Given the description of an element on the screen output the (x, y) to click on. 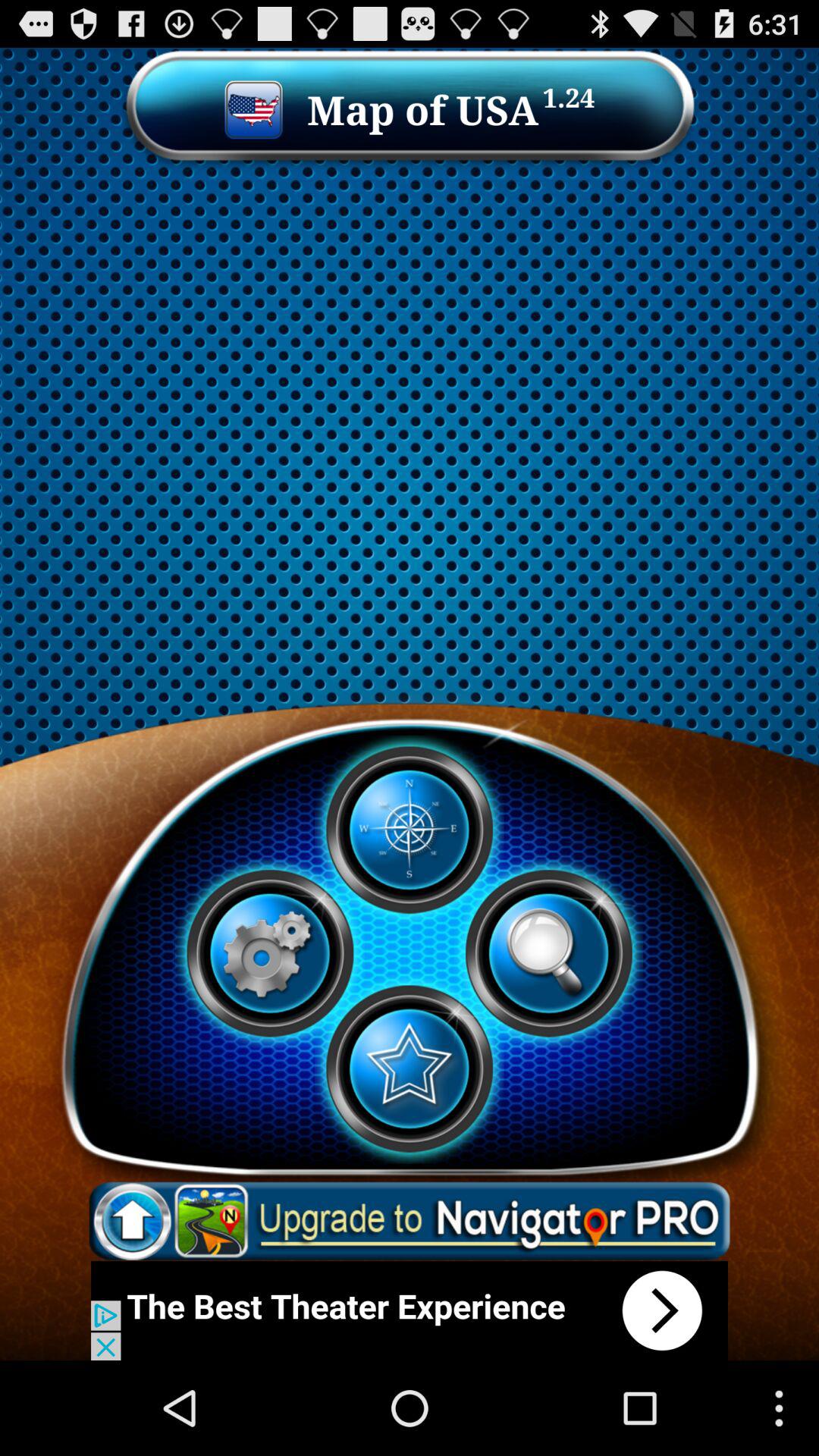
go to play (408, 829)
